Given the description of an element on the screen output the (x, y) to click on. 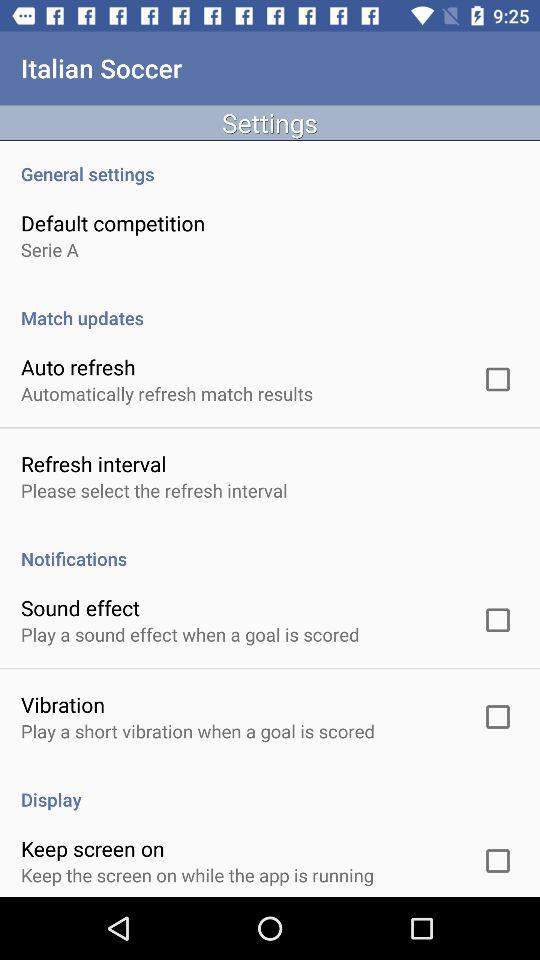
tap the item below the match updates app (78, 366)
